Given the description of an element on the screen output the (x, y) to click on. 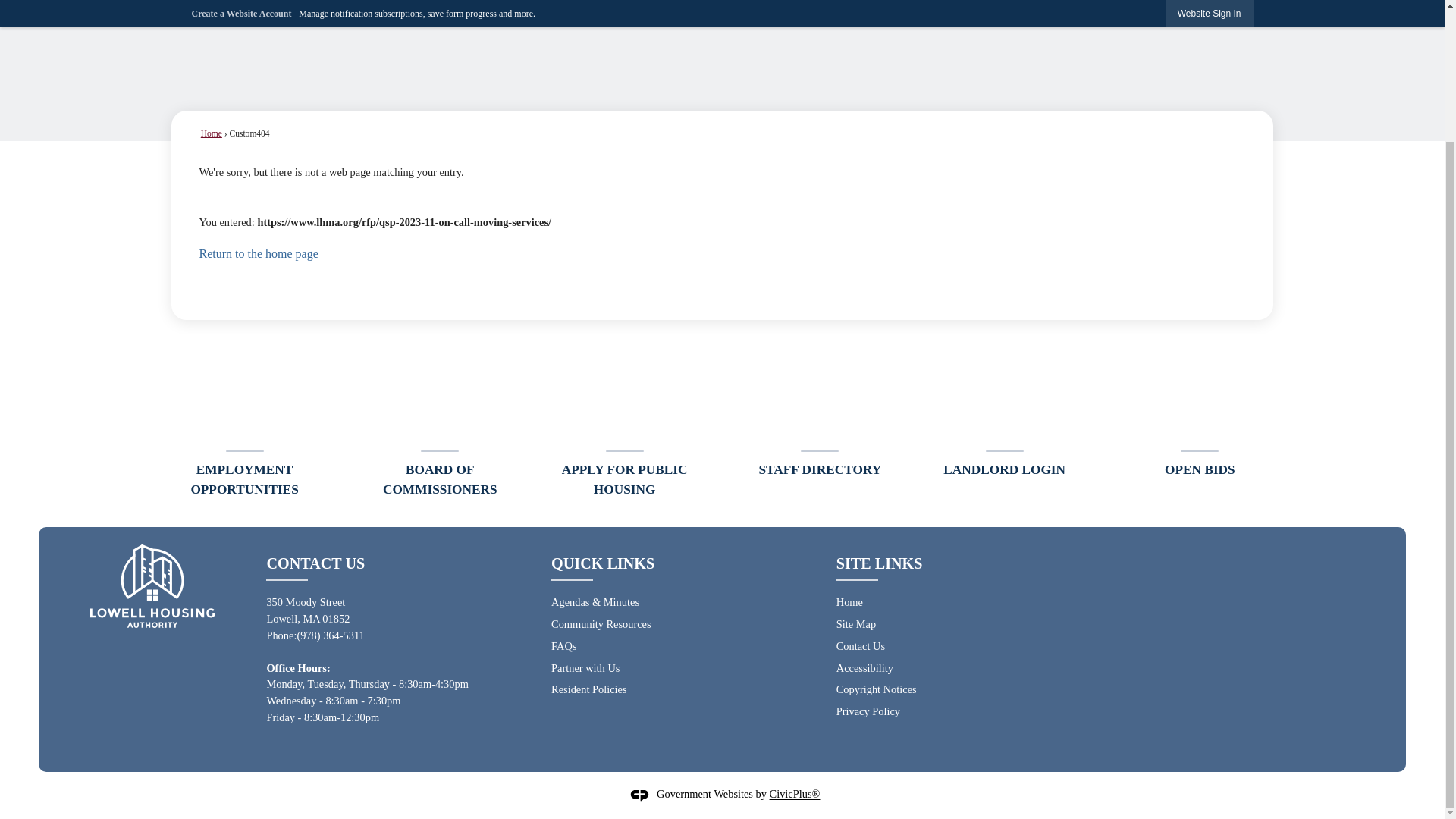
Contact Us (860, 645)
Copyright Notices (876, 689)
Resident Policies (589, 689)
Partner with Us (585, 667)
LANDLORD LOGIN (1004, 417)
QUICK LINKS (602, 563)
Home (849, 602)
Community Resources (600, 623)
Home (211, 133)
FAQs (563, 645)
Accessibility (864, 667)
SITE LINKS (879, 563)
Site Map (855, 623)
Privacy Policy (867, 711)
EMPLOYMENT OPPORTUNITIES (244, 427)
